Given the description of an element on the screen output the (x, y) to click on. 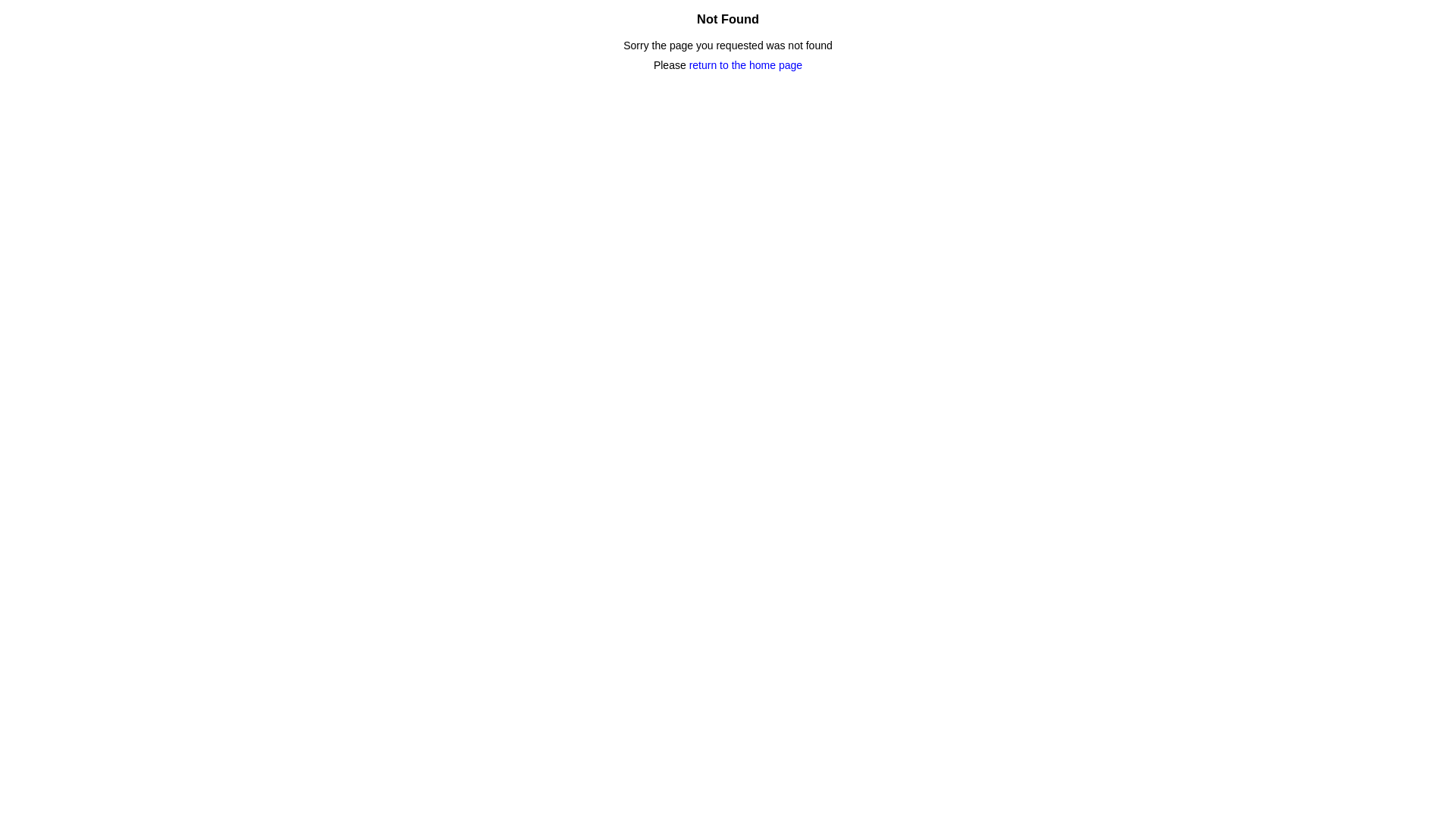
return to the home page Element type: text (745, 65)
